Given the description of an element on the screen output the (x, y) to click on. 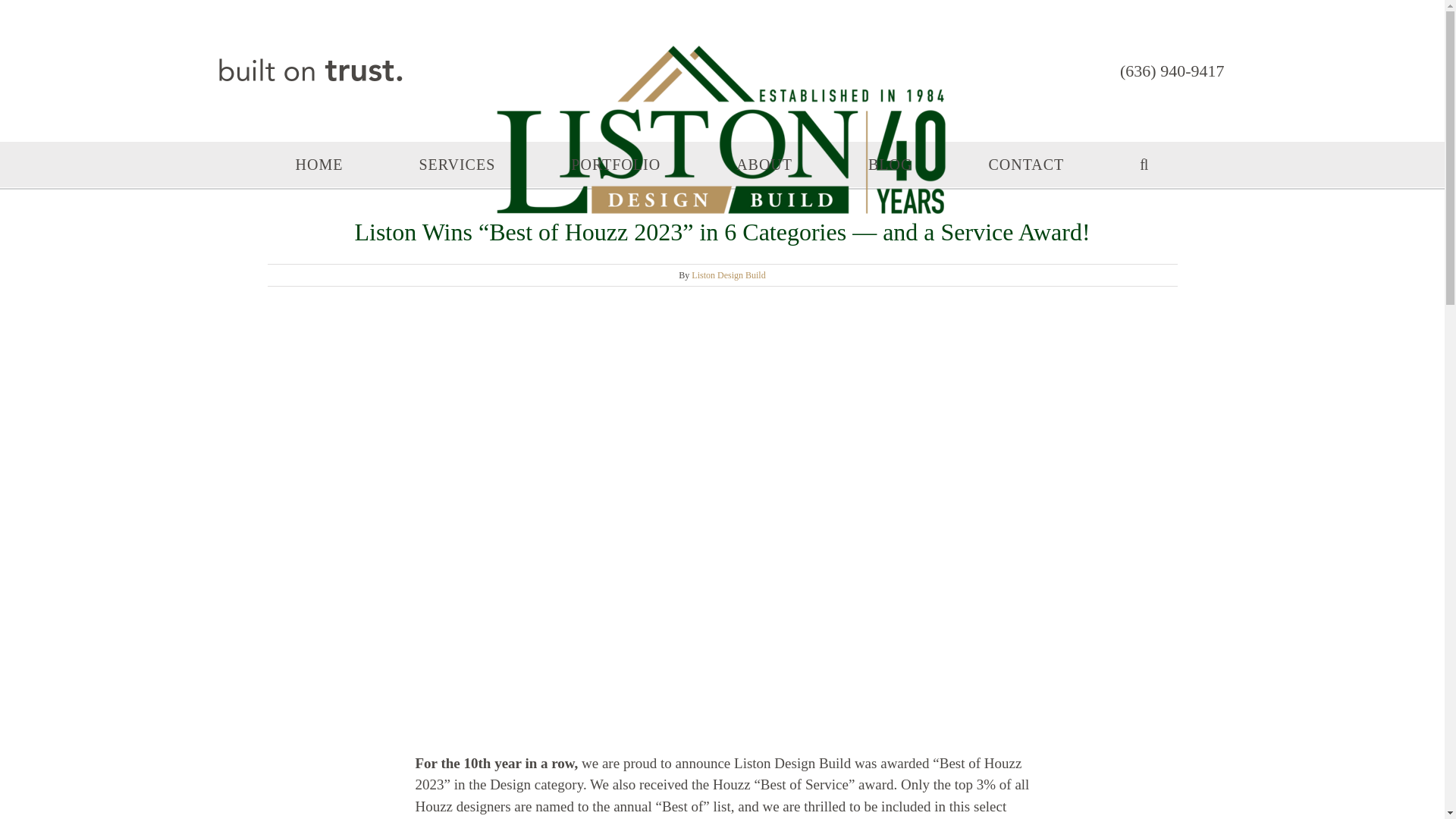
BLOG (889, 164)
ABOUT (764, 164)
Posts by Liston Design Build (728, 275)
Liston Design Build (728, 275)
PORTFOLIO (615, 164)
CONTACT (1026, 164)
SERVICES (457, 164)
HOME (319, 164)
